Given the description of an element on the screen output the (x, y) to click on. 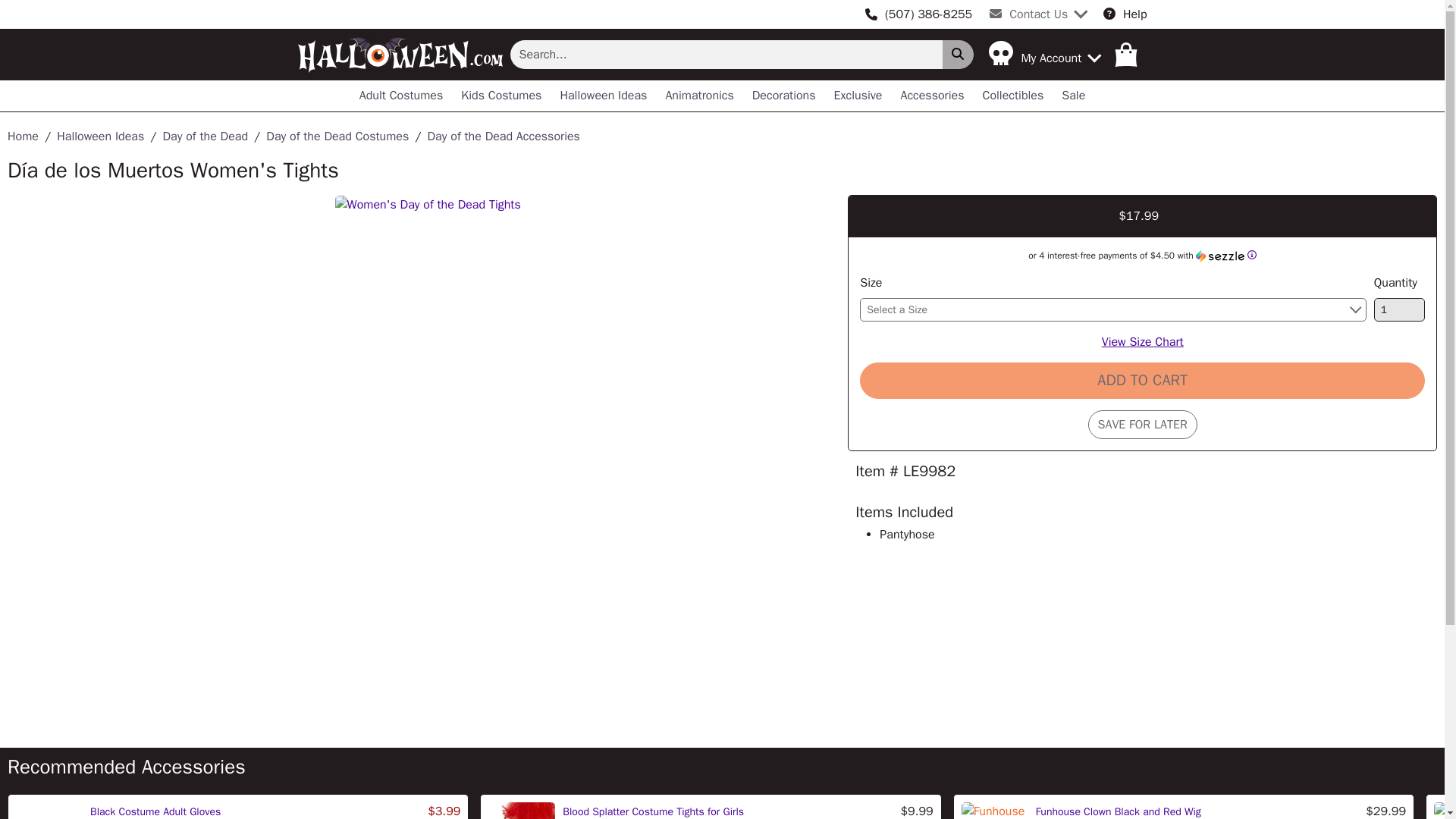
Black Costume Adult Gloves (155, 811)
1 (1399, 309)
Help (1125, 13)
Adult Costumes (401, 95)
Contact Us (1037, 14)
Kids Costumes (500, 95)
Funhouse Clown Black and Red Wig (1118, 811)
Blood Splatter Costume Tights for Girls (653, 811)
My Account (1043, 53)
